Given the description of an element on the screen output the (x, y) to click on. 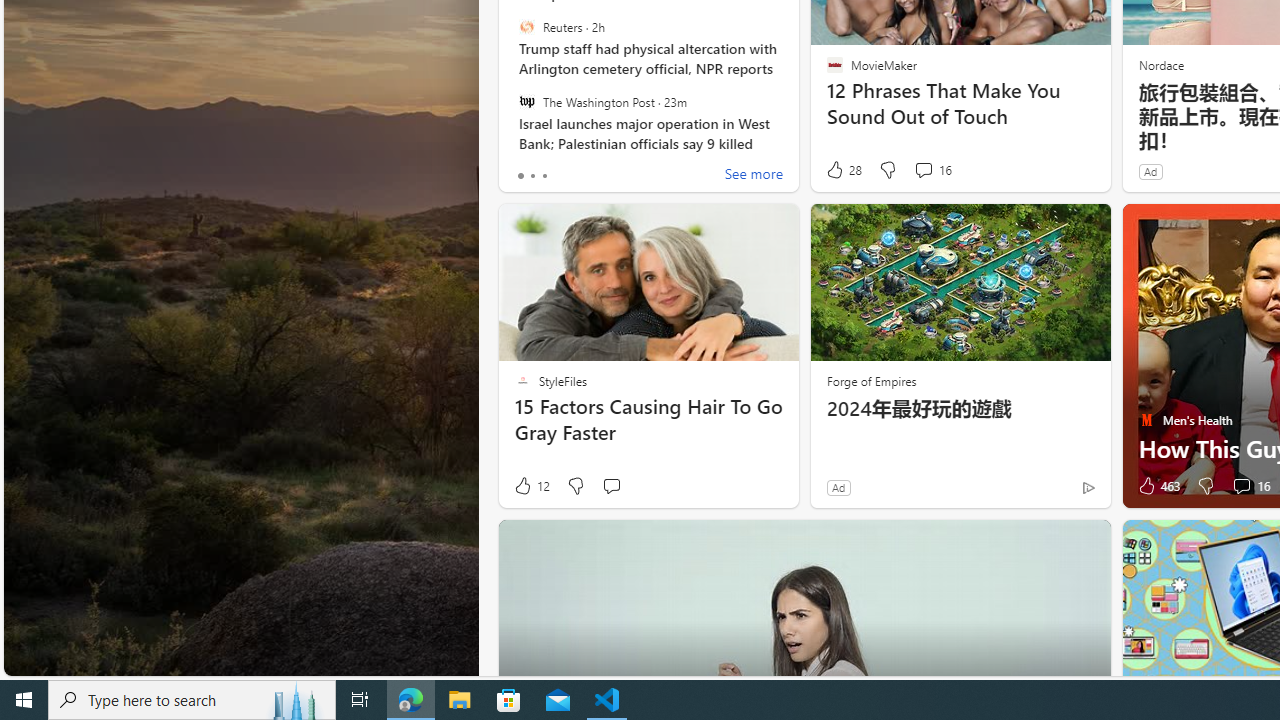
The Washington Post (526, 101)
Start the conversation (611, 485)
tab-2 (543, 175)
Forge of Empires (870, 380)
tab-0 (520, 175)
Dislike (1204, 485)
463 Like (1157, 485)
Ad Choice (1087, 487)
View comments 16 Comment (1241, 485)
View comments 16 Comment (1249, 485)
